Given the description of an element on the screen output the (x, y) to click on. 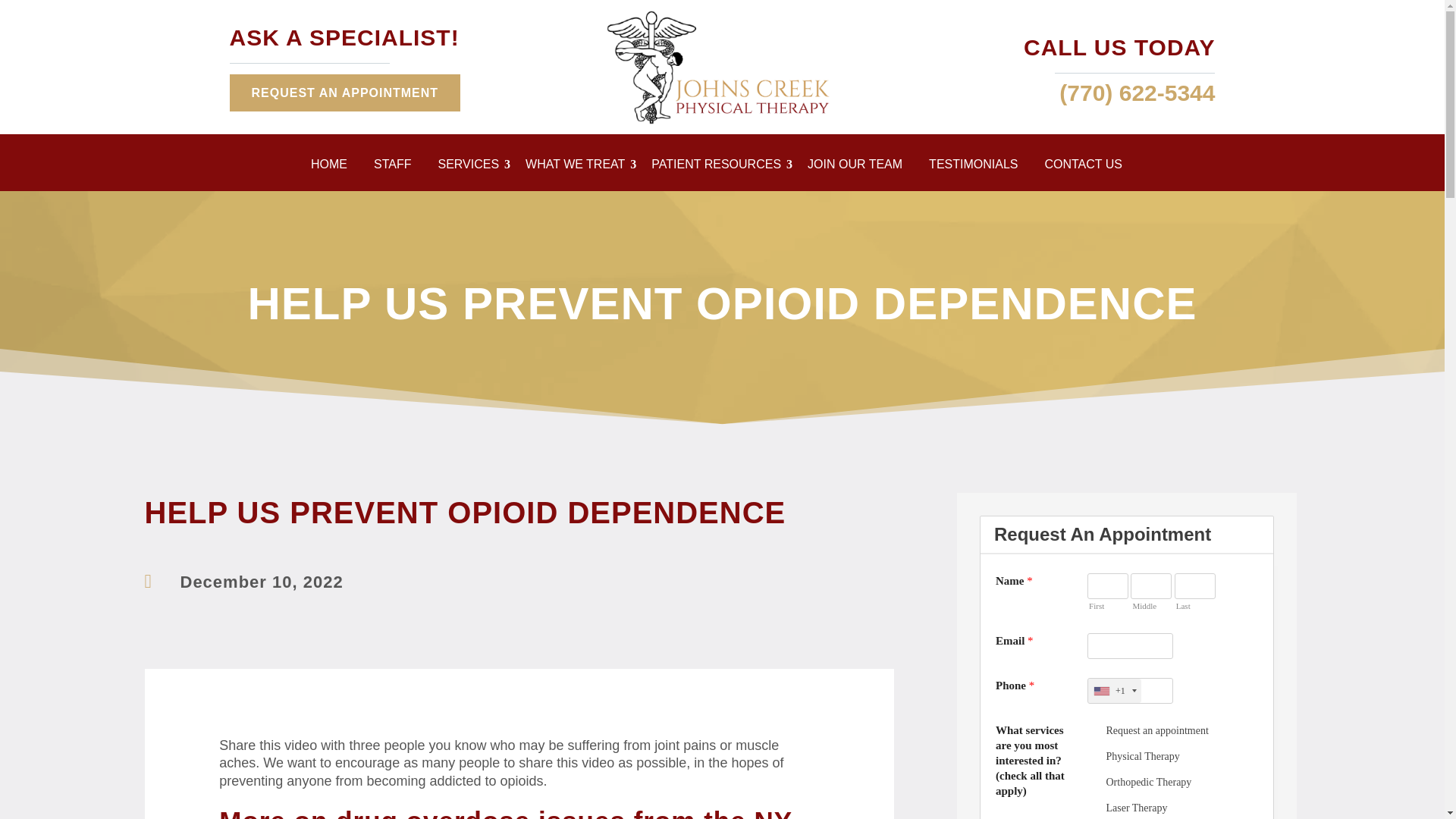
CONTACT US (1088, 167)
15388 Rehab CEOs Logo -01 (722, 67)
WHAT WE TREAT (580, 167)
TESTIMONIALS (978, 167)
SERVICES (474, 167)
JOIN OUR TEAM (861, 167)
PATIENT RESOURCES (721, 167)
REQUEST AN APPOINTMENT (344, 92)
HOME (334, 167)
STAFF (398, 167)
